Given the description of an element on the screen output the (x, y) to click on. 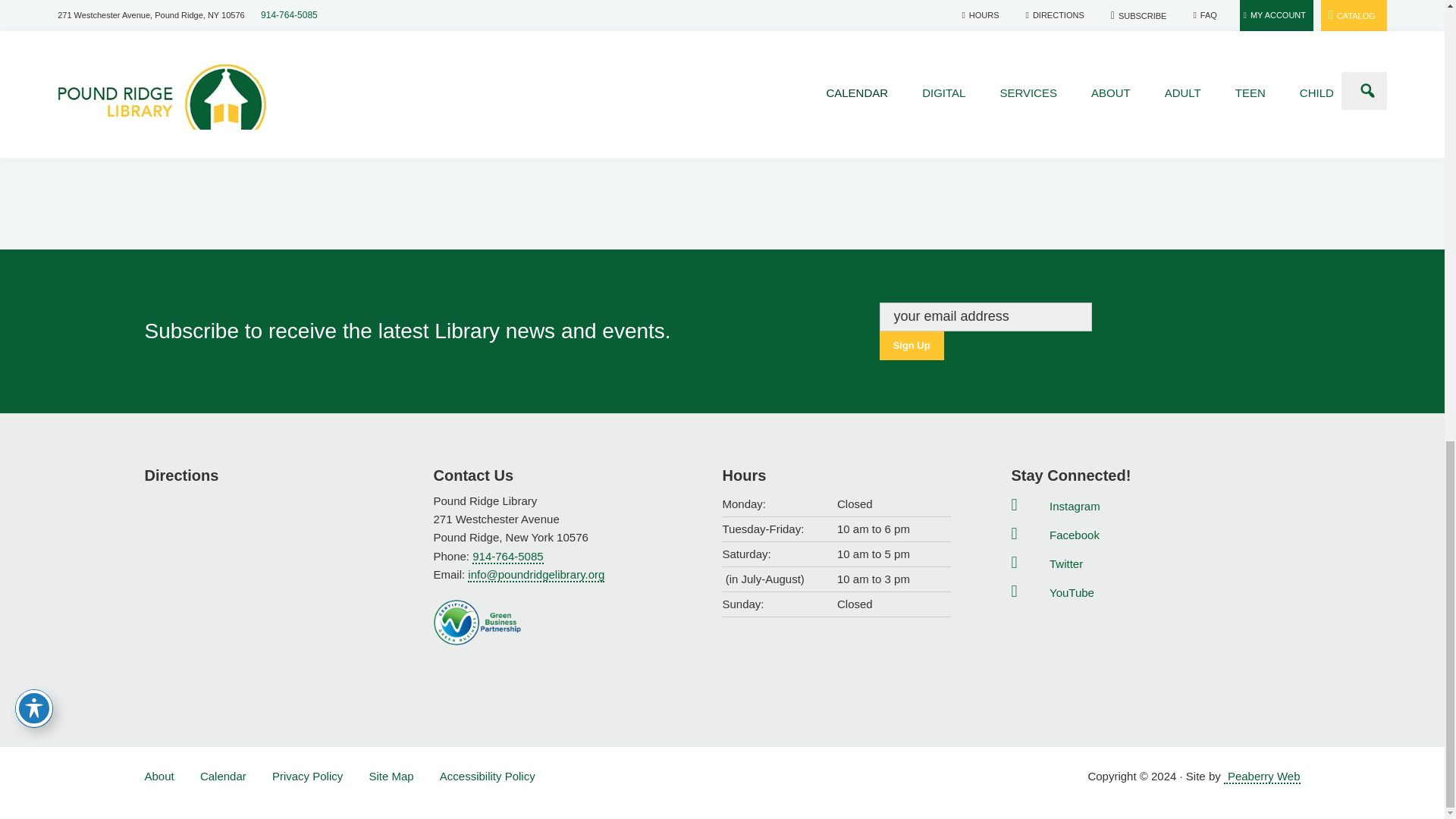
Sign Up (911, 345)
